Given the description of an element on the screen output the (x, y) to click on. 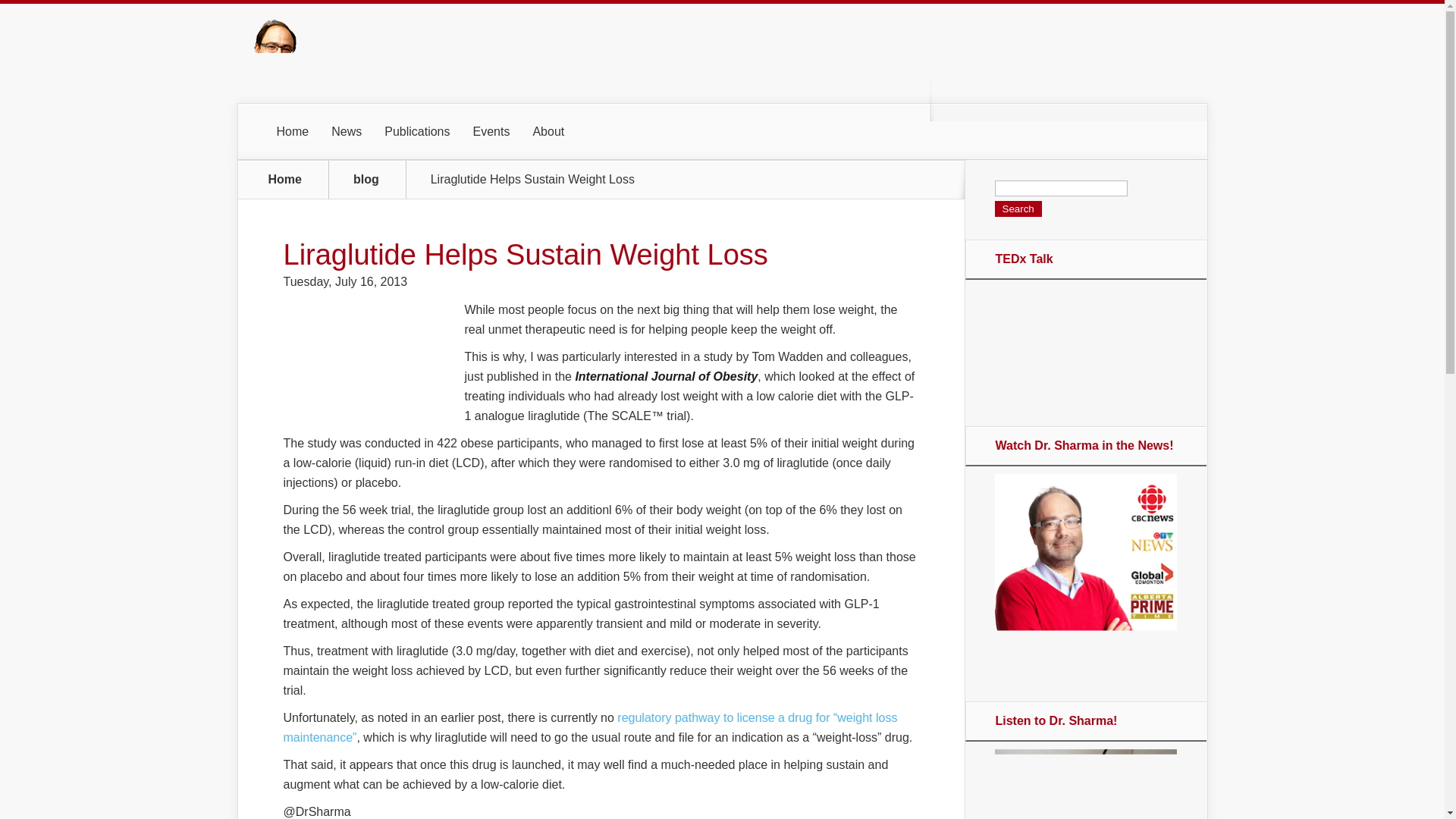
News (346, 131)
About (548, 131)
blog (375, 179)
Events (491, 131)
Search (1018, 208)
Home (285, 179)
International Journal of Obesity (664, 376)
Home (292, 131)
Search (1018, 208)
Publications (416, 131)
